Given the description of an element on the screen output the (x, y) to click on. 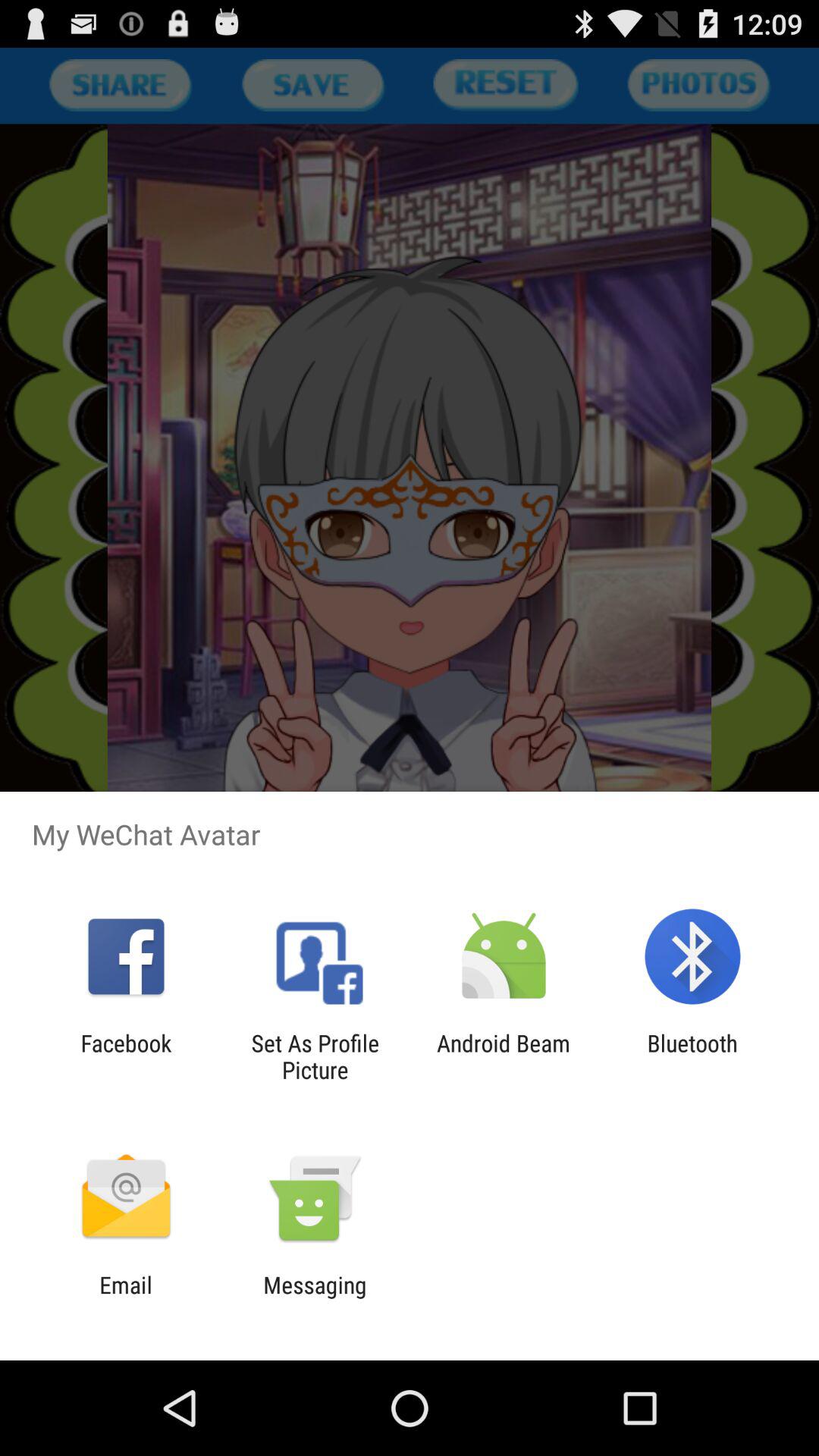
tap messaging icon (314, 1298)
